Given the description of an element on the screen output the (x, y) to click on. 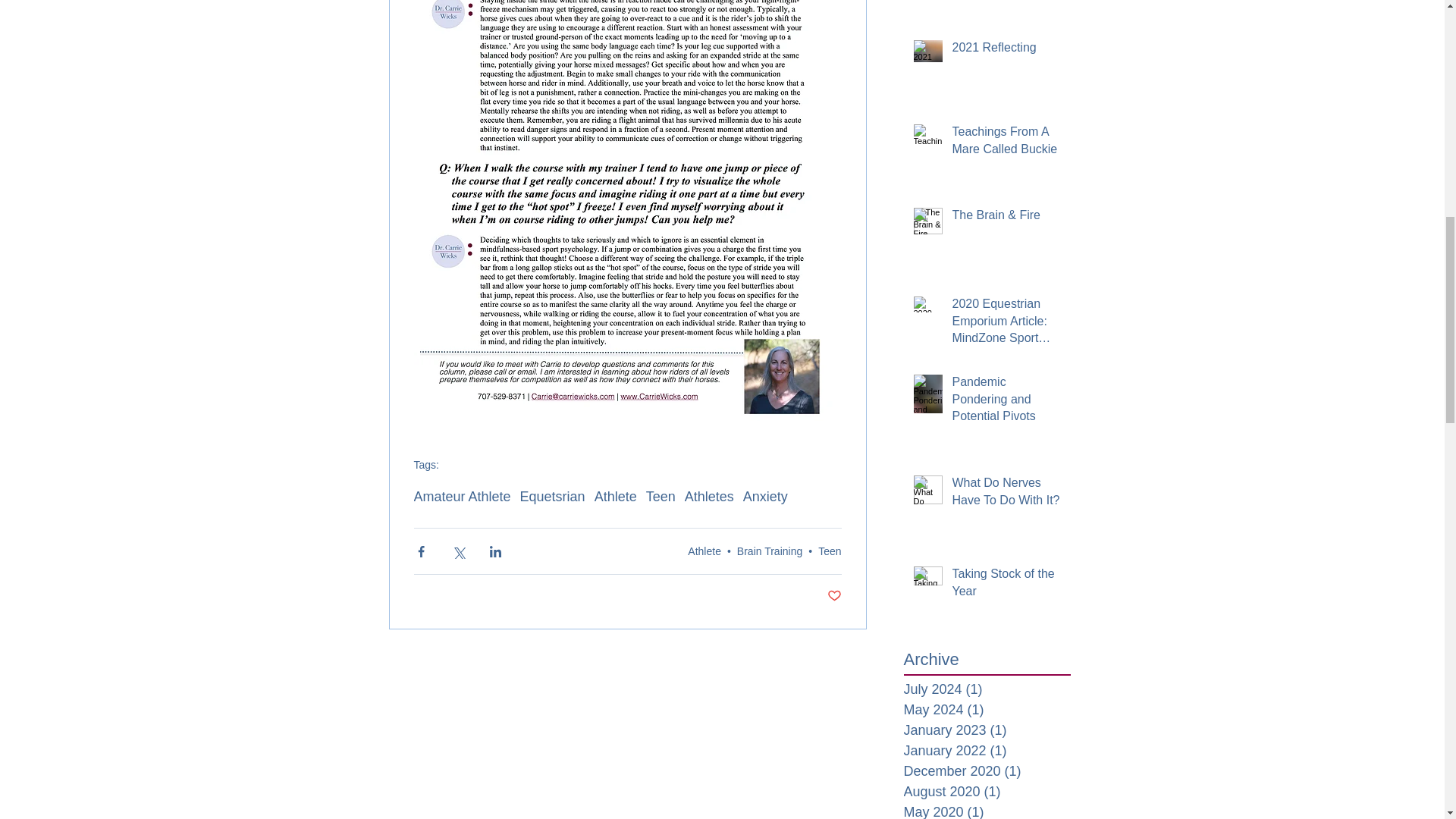
Post not marked as liked (834, 596)
Taking Stock of the Year (1006, 585)
Teen (829, 551)
Anxiety (764, 496)
2021 Reflecting (1006, 50)
Athletes (708, 496)
Equetsrian (552, 496)
Athlete (615, 496)
What Do Nerves Have To Do With It? (1006, 495)
Brain Training (769, 551)
